Given the description of an element on the screen output the (x, y) to click on. 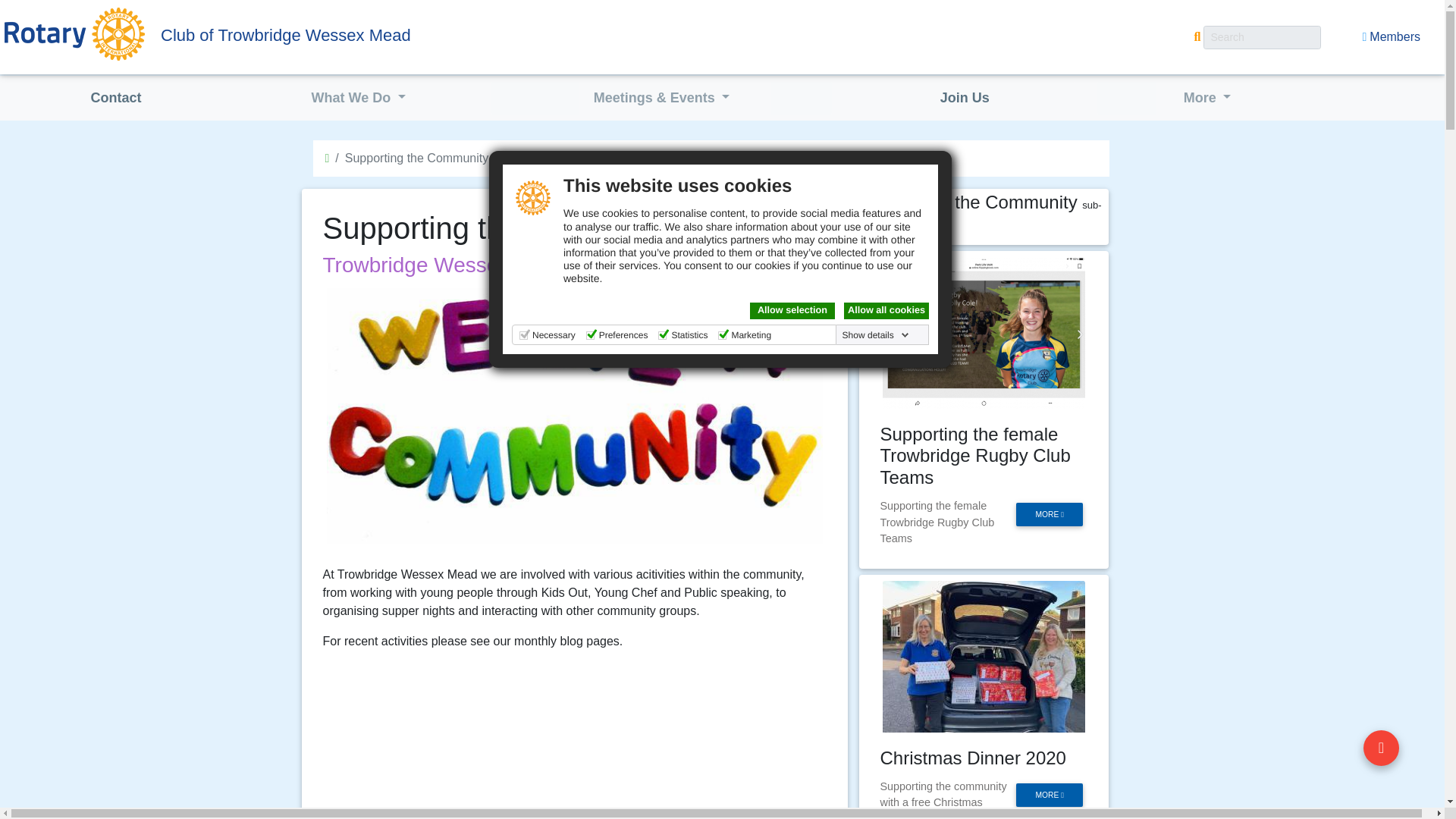
Allow selection (791, 310)
Show details (876, 335)
Allow all cookies (886, 310)
